Given the description of an element on the screen output the (x, y) to click on. 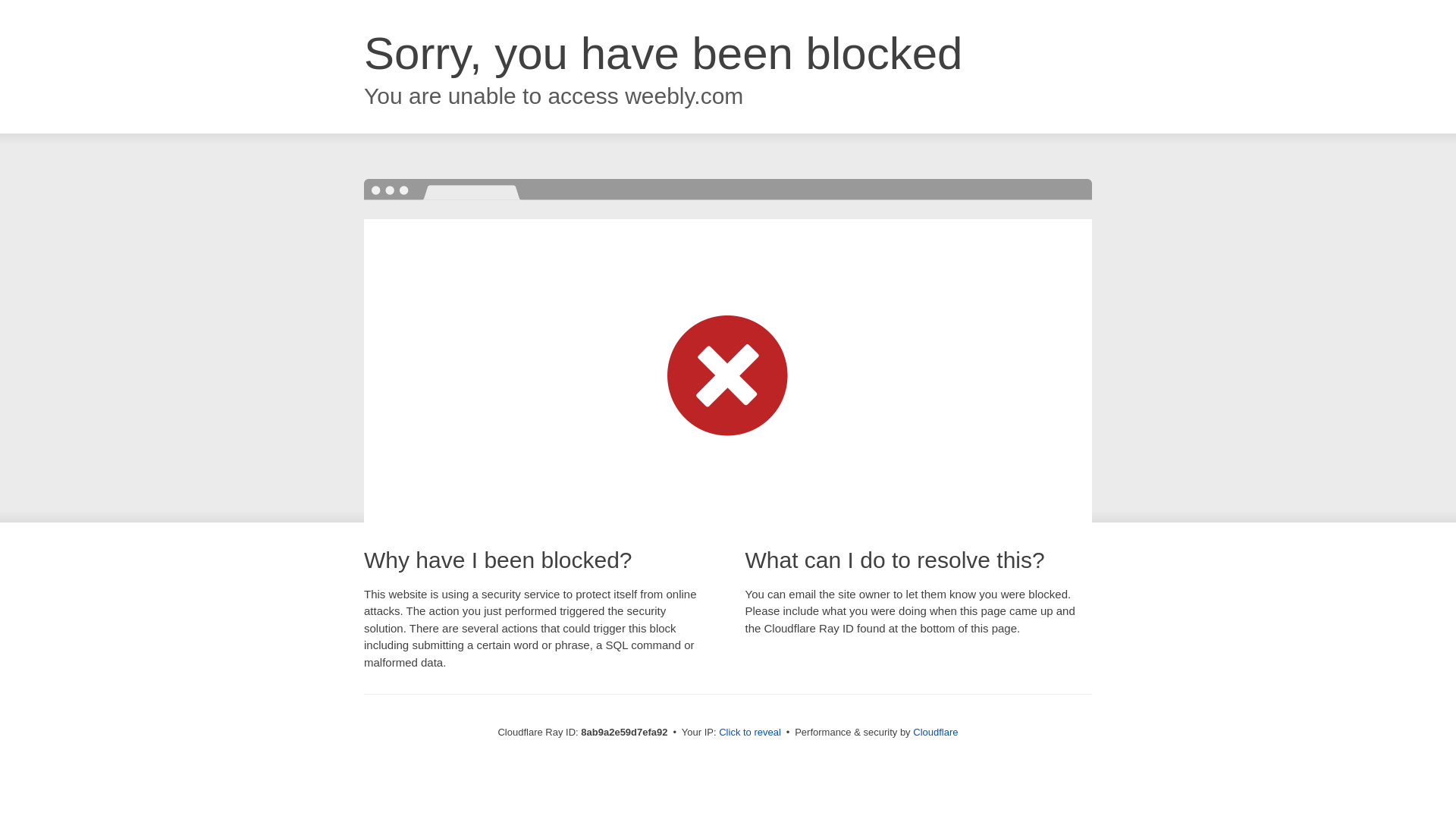
Click to reveal (749, 732)
Cloudflare (935, 731)
